Given the description of an element on the screen output the (x, y) to click on. 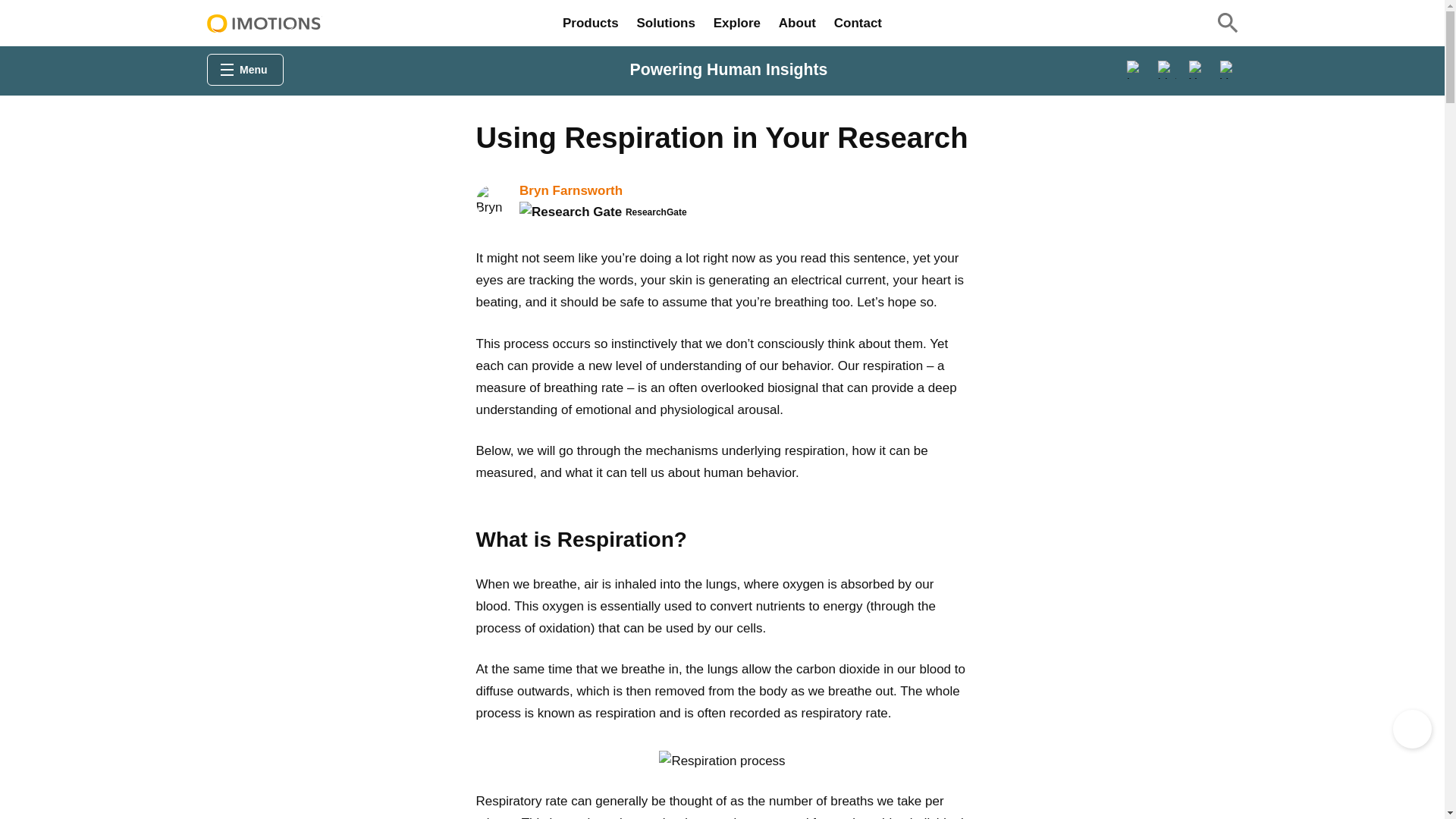
Solutions (665, 23)
Products (590, 23)
Newsletter Sign Up (1412, 729)
